Given the description of an element on the screen output the (x, y) to click on. 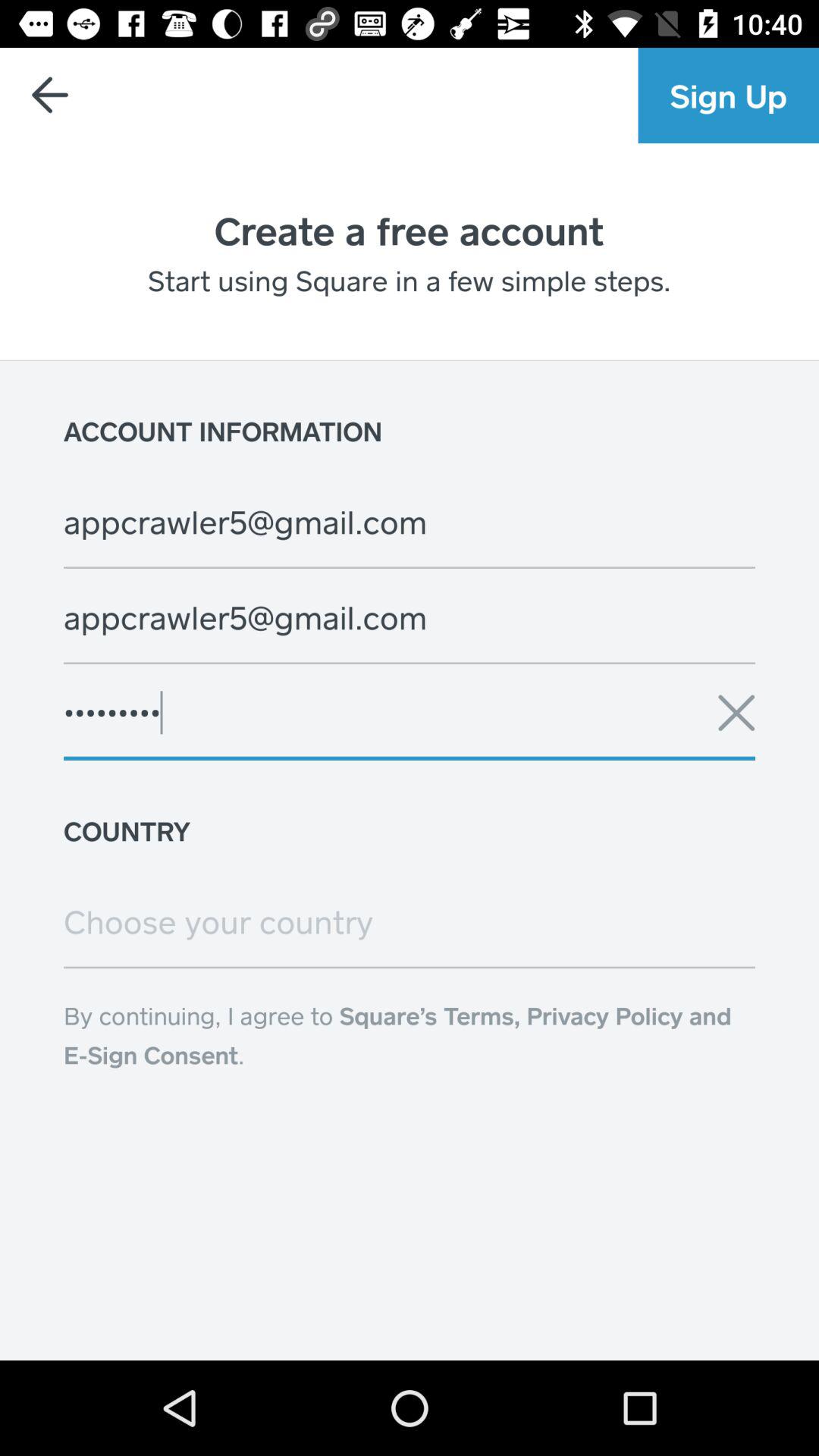
choose your country (409, 921)
